Given the description of an element on the screen output the (x, y) to click on. 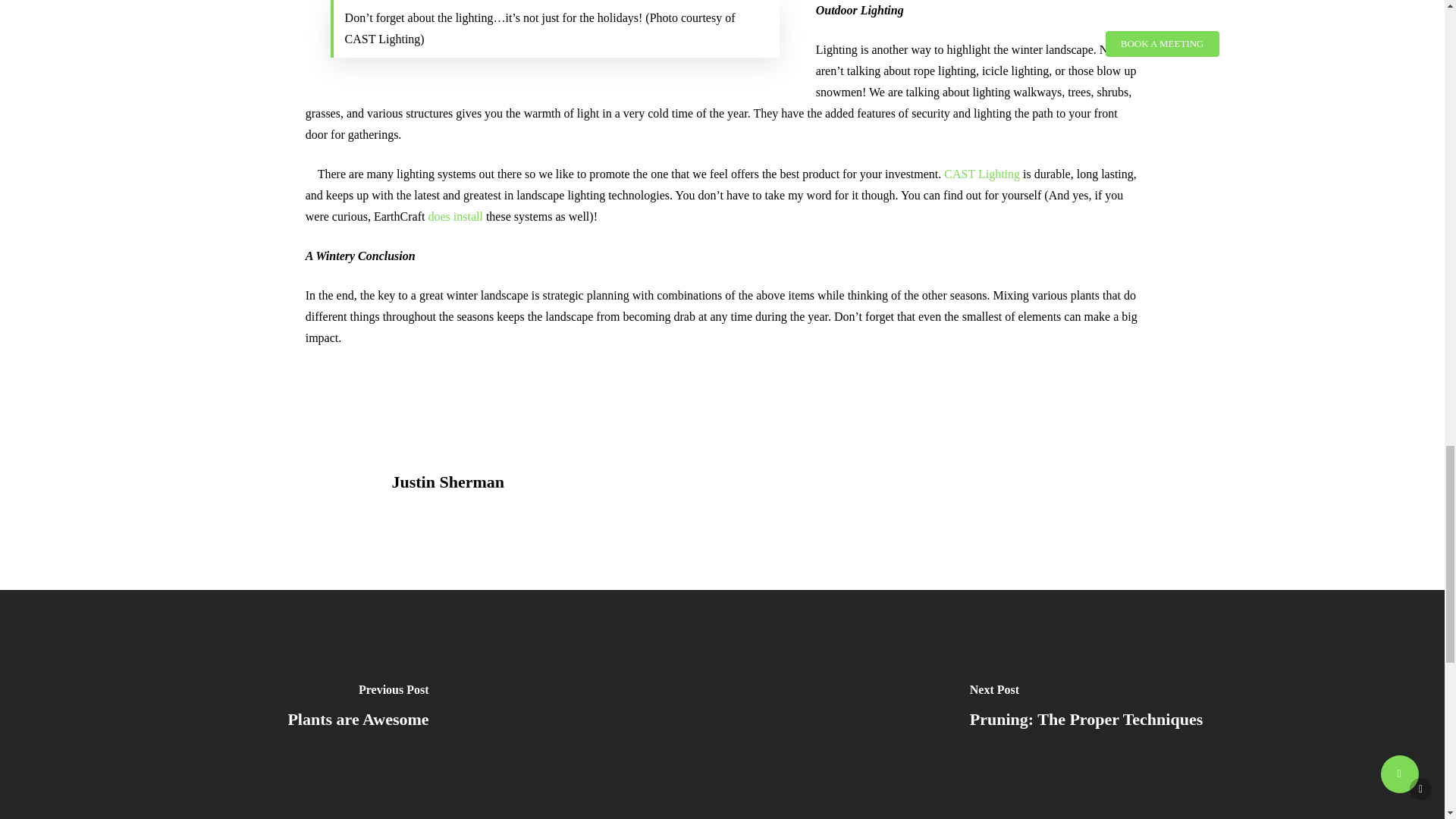
New Project Installations (454, 215)
